Given the description of an element on the screen output the (x, y) to click on. 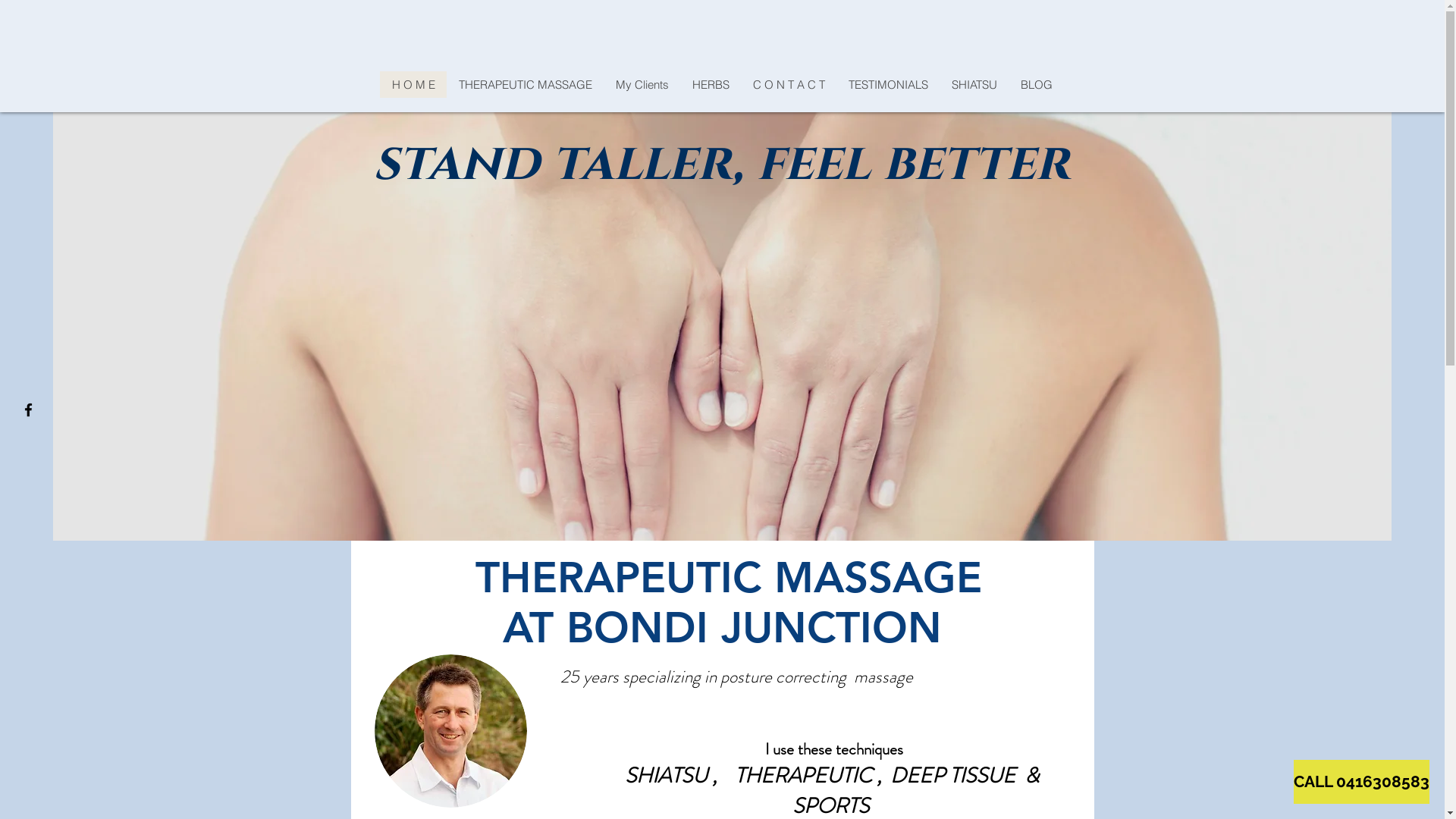
SHIATSU Element type: text (973, 84)
C O N T A C T Element type: text (788, 84)
My Clients Element type: text (641, 84)
BLOG Element type: text (1035, 84)
CALL 0416308583 Element type: text (1361, 781)
H O M E Element type: text (412, 84)
TESTIMONIALS Element type: text (887, 84)
THERAPEUTIC MASSAGE Element type: text (524, 84)
HERBS Element type: text (710, 84)
